Given the description of an element on the screen output the (x, y) to click on. 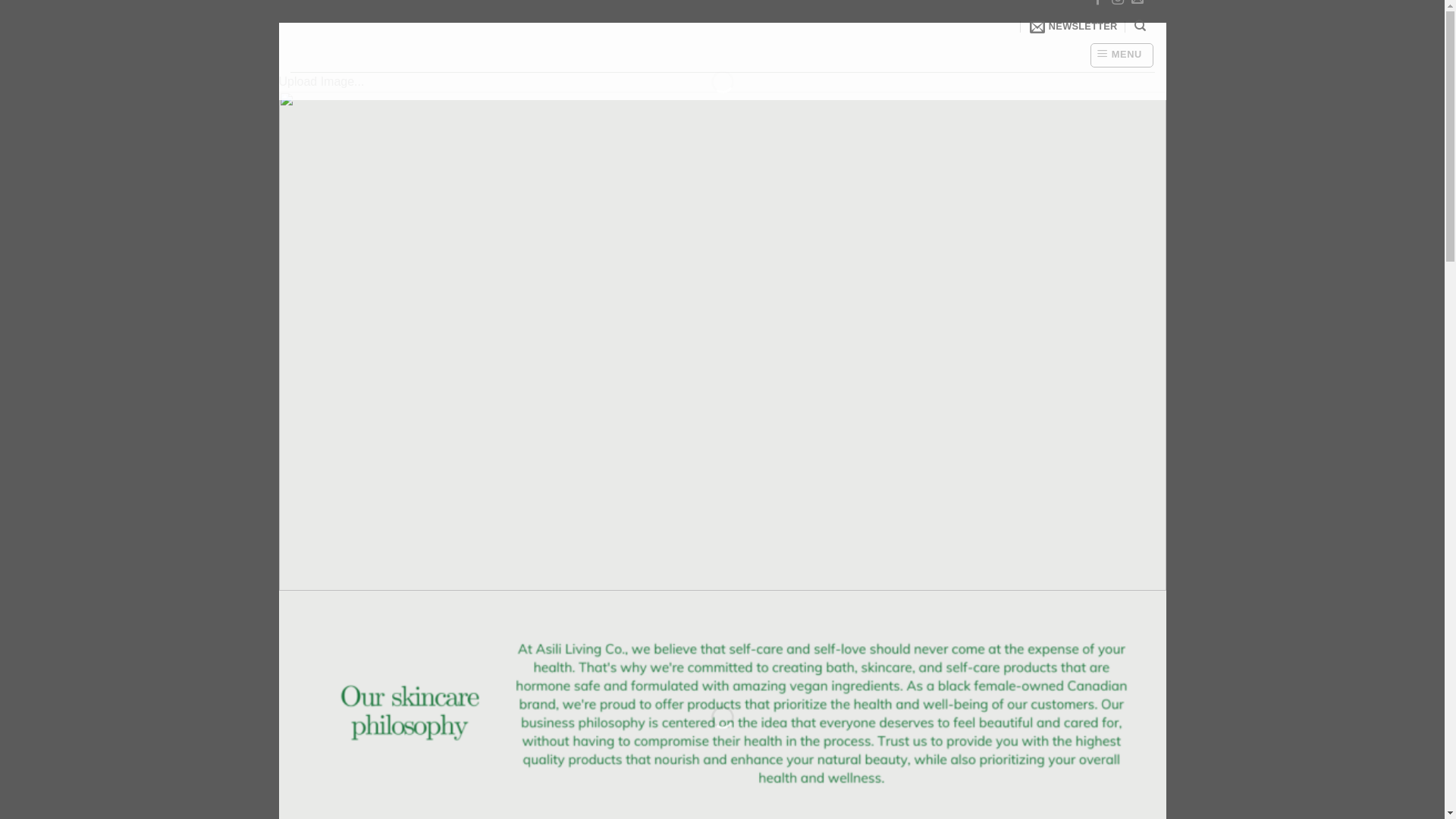
NEWSLETTER Element type: text (1073, 26)
MENU Element type: text (1121, 55)
Skip to content Element type: text (277, 21)
